Given the description of an element on the screen output the (x, y) to click on. 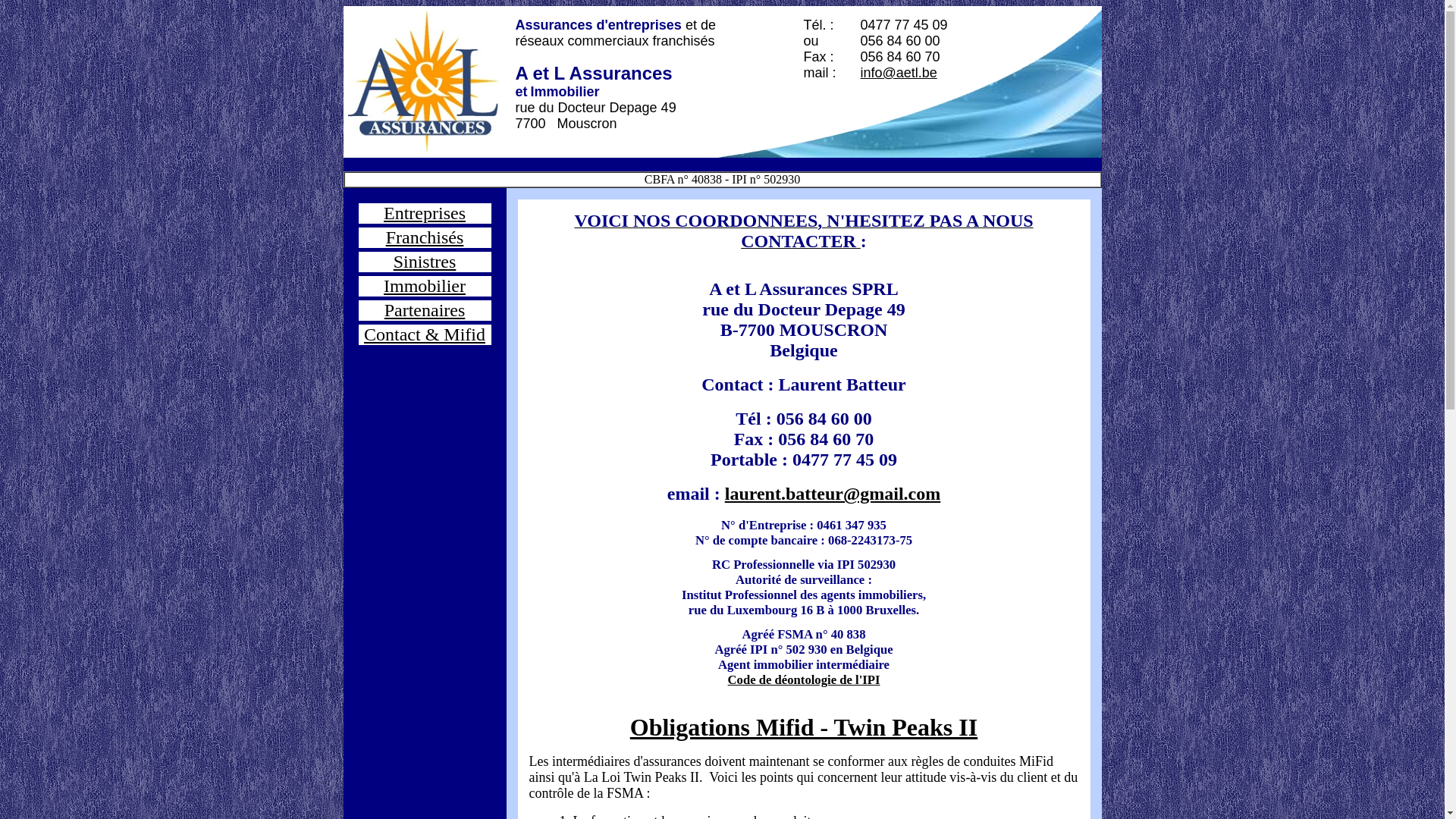
laurent.batteur@gmail.com Element type: text (832, 493)
info@aetl.be Element type: text (897, 72)
Sinistres Element type: text (424, 261)
Immobilier Element type: text (424, 285)
Entreprises Element type: text (424, 212)
Contact & Mifid Element type: text (424, 334)
Partenaires Element type: text (424, 310)
